Given the description of an element on the screen output the (x, y) to click on. 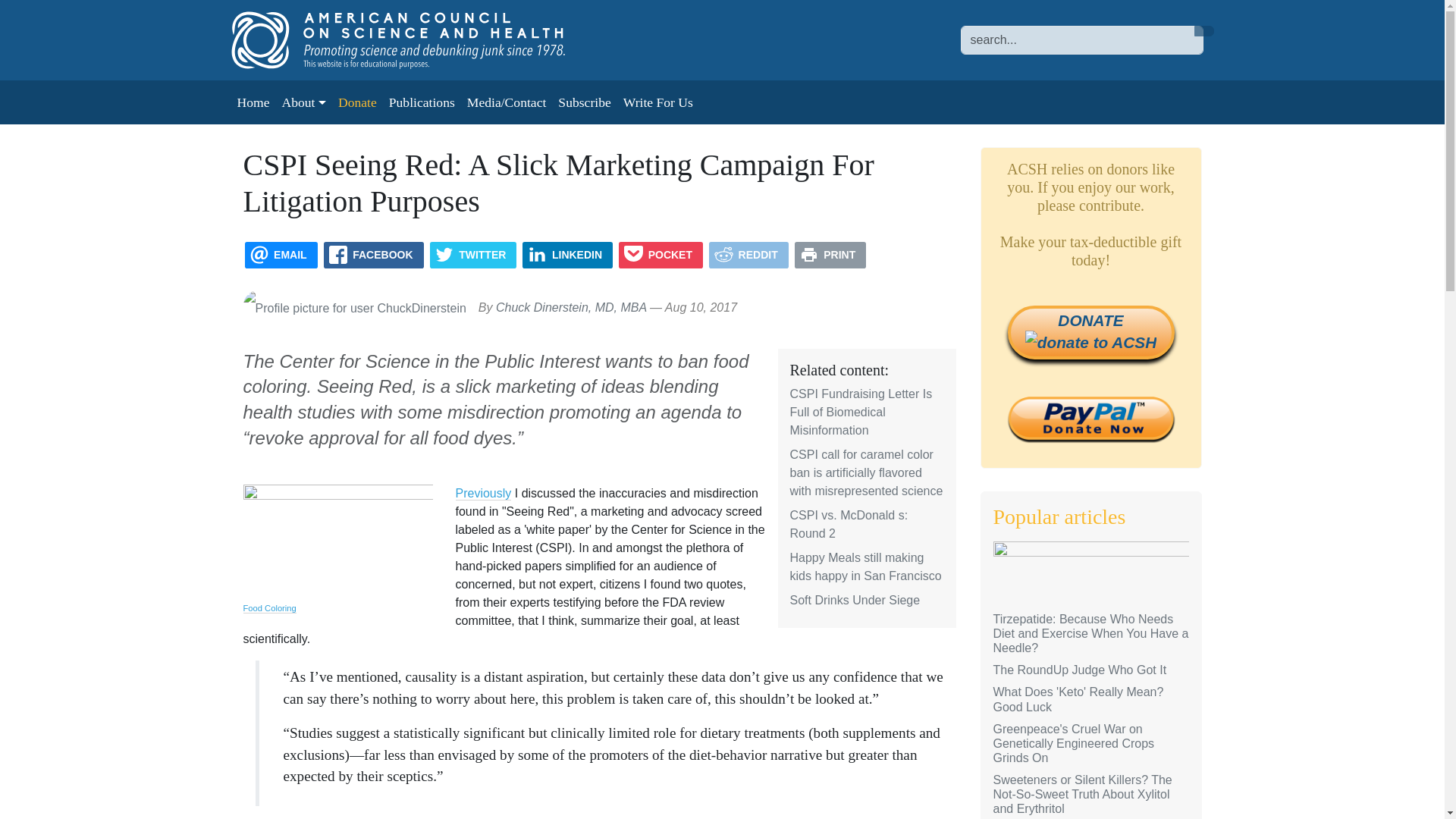
CSPI Fundraising Letter Is Full of Biomedical Misinformation (861, 411)
Happy Meals still making kids happy in San Francisco (866, 566)
Skip to main content (60, 10)
Home (252, 101)
Write For Us (657, 101)
LINKEDIN (567, 254)
Chuck Dinerstein, MD, MBA (571, 307)
POCKET (660, 254)
Home (413, 39)
Food Coloring (269, 608)
